Given the description of an element on the screen output the (x, y) to click on. 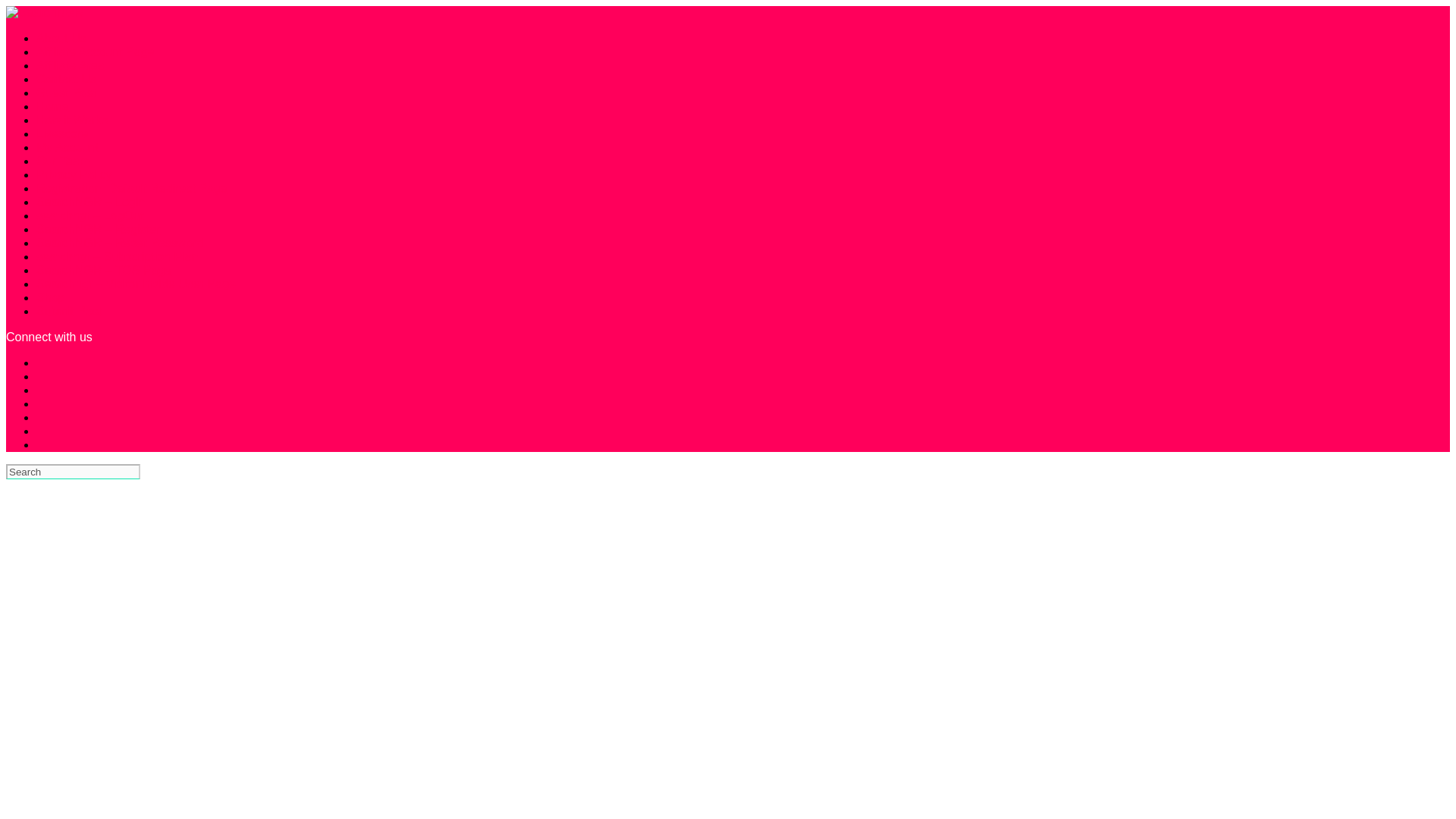
Registration- Default Redirect Page (131, 187)
Affiliate Account Page (95, 51)
Our Team (62, 160)
How it Works (71, 119)
Submit Post (68, 310)
Livescore (61, 133)
Privacy Policy (74, 174)
Contact Us (66, 78)
Home (52, 106)
Shop (50, 297)
Affiliate Area (70, 65)
My Account (67, 146)
About Us (60, 38)
Guest Post (66, 92)
